Given the description of an element on the screen output the (x, y) to click on. 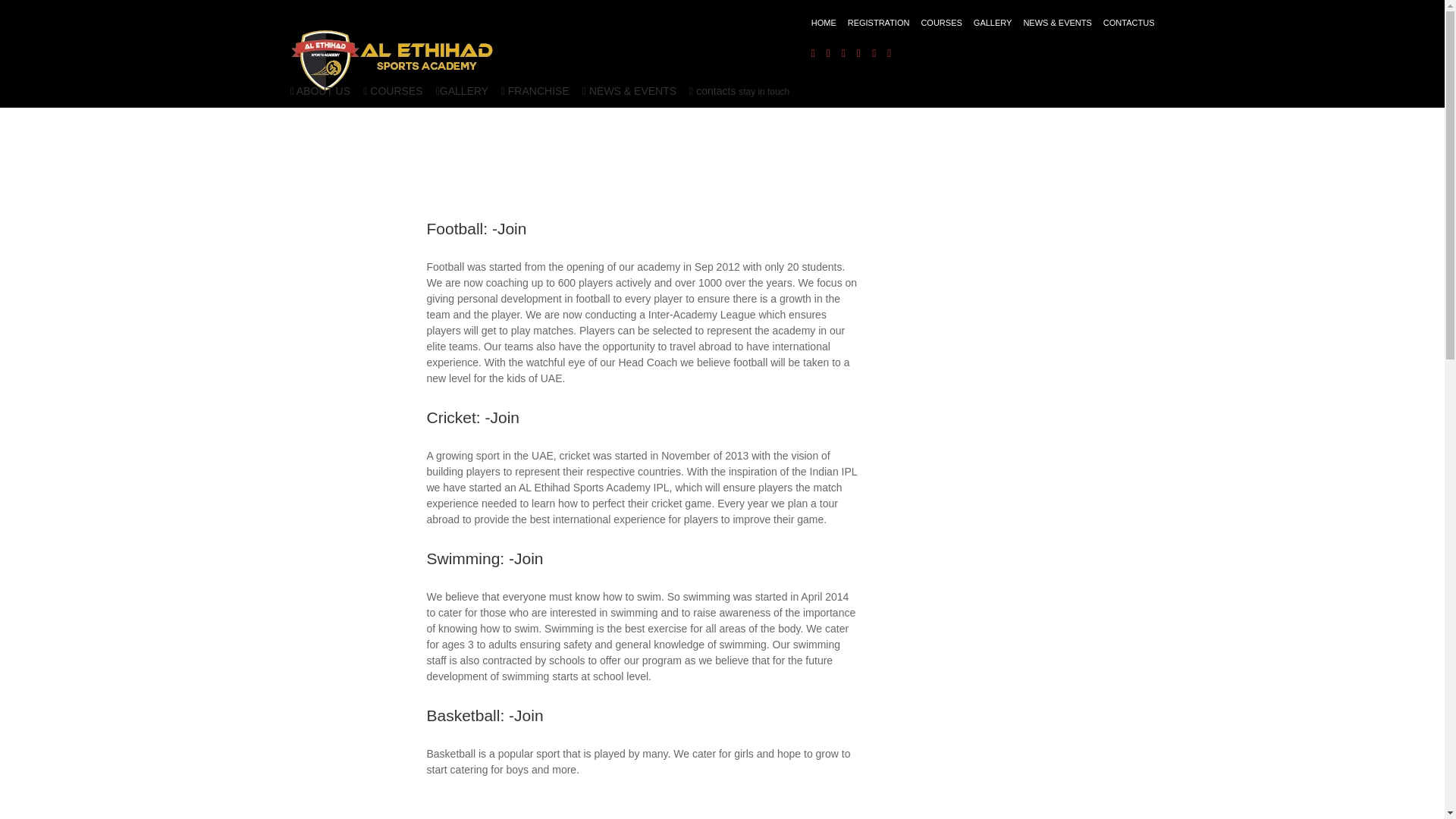
CONTACTUS (1128, 23)
COURSES (940, 23)
Join (504, 416)
FRANCHISE   (537, 91)
GALLERY   (464, 91)
Join (528, 714)
REGISTRATION (878, 23)
ABOUT US   (322, 91)
HOME (822, 23)
Join (512, 228)
